Given the description of an element on the screen output the (x, y) to click on. 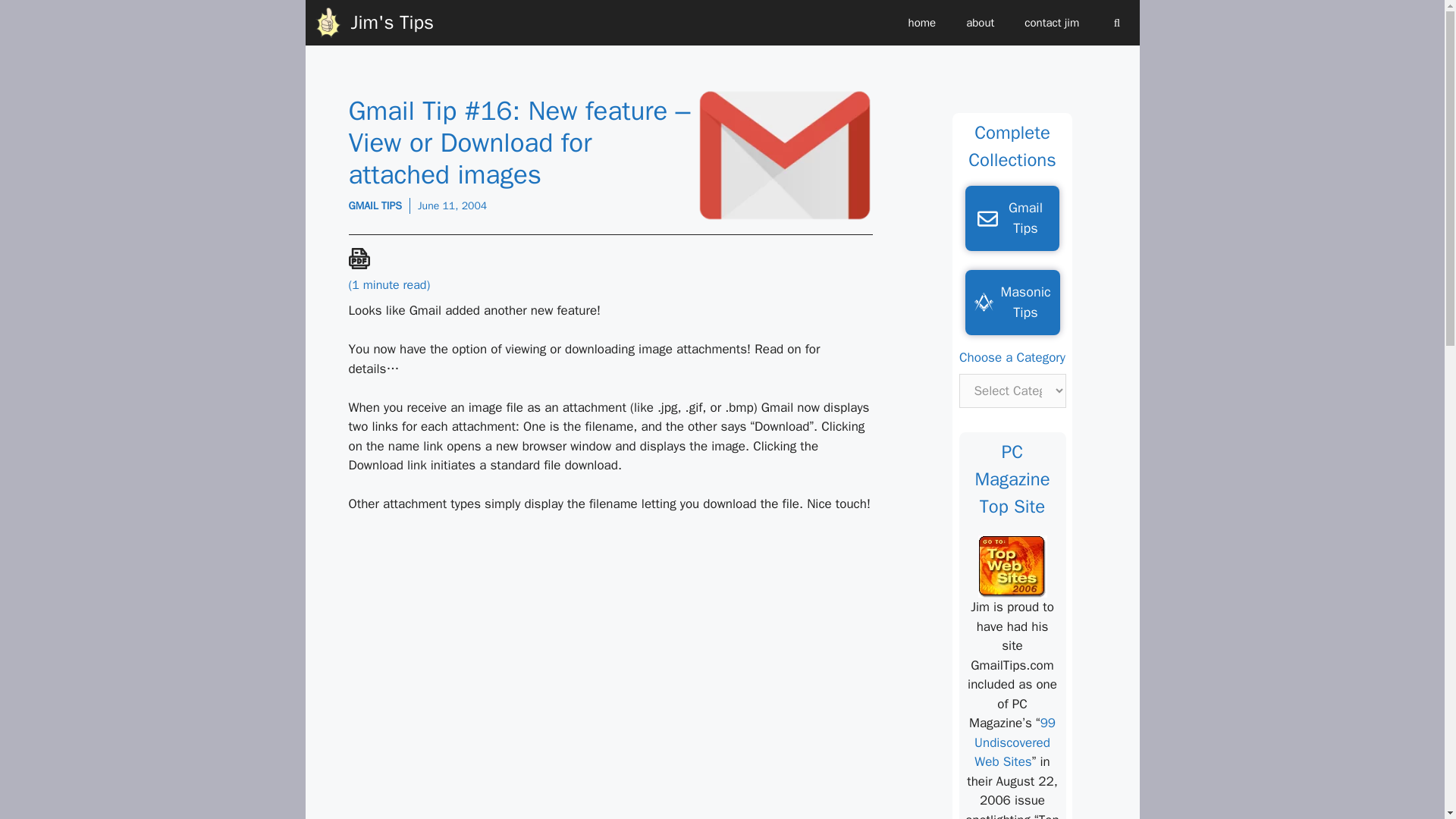
home (922, 22)
Gmail Tips (1012, 217)
99 Undiscovered Web Sites (1014, 741)
about (979, 22)
contact jim (1051, 22)
Jim's Tips (391, 22)
Masonic Tips (1011, 302)
Generate PDF (359, 258)
GMAIL TIPS (376, 205)
pc-mag-top-sites (1012, 566)
